Given the description of an element on the screen output the (x, y) to click on. 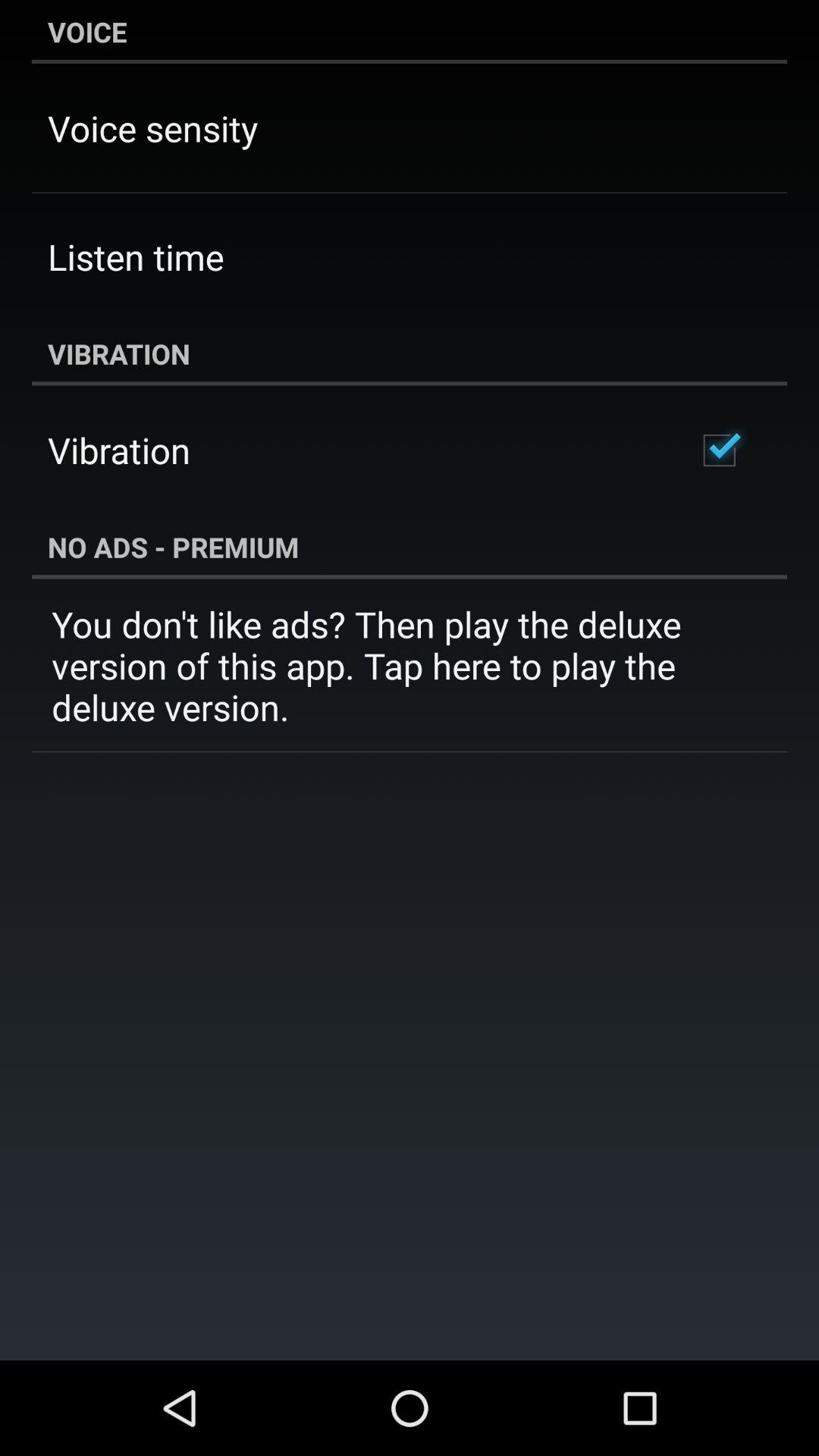
click the icon at the top right corner (719, 450)
